Given the description of an element on the screen output the (x, y) to click on. 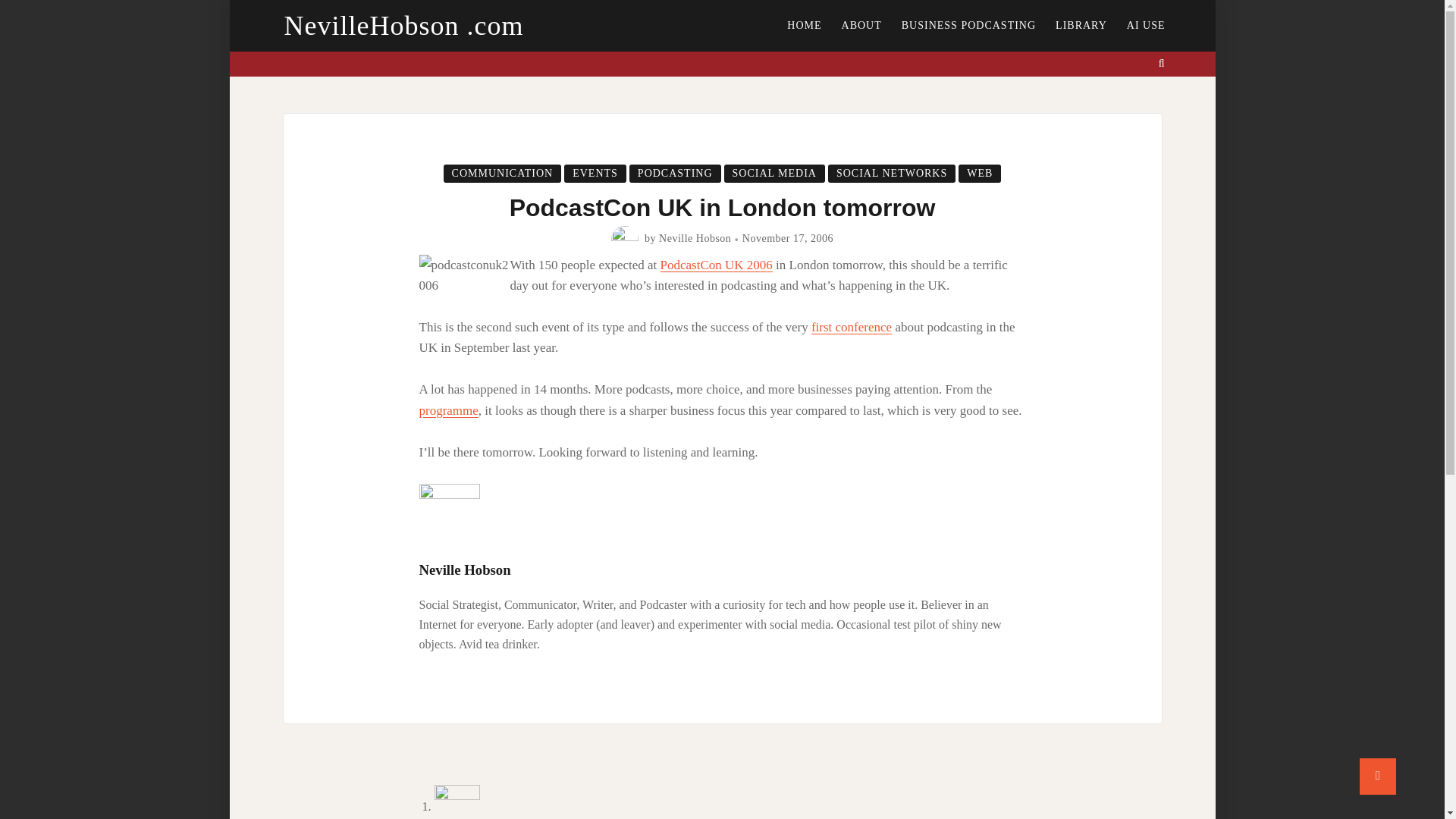
SOCIAL NETWORKS (891, 173)
PodcastCon UK 2006 (717, 264)
Neville Hobson (694, 238)
EVENTS (595, 173)
WEB (979, 173)
SOCIAL MEDIA (774, 173)
Scroll to top (1377, 776)
AI USE (1145, 25)
NevilleHobson .com (402, 25)
LIBRARY (1080, 25)
COMMUNICATION (503, 173)
November 17, 2006 (787, 238)
BUSINESS PODCASTING (968, 25)
first conference (850, 327)
programme (448, 410)
